Given the description of an element on the screen output the (x, y) to click on. 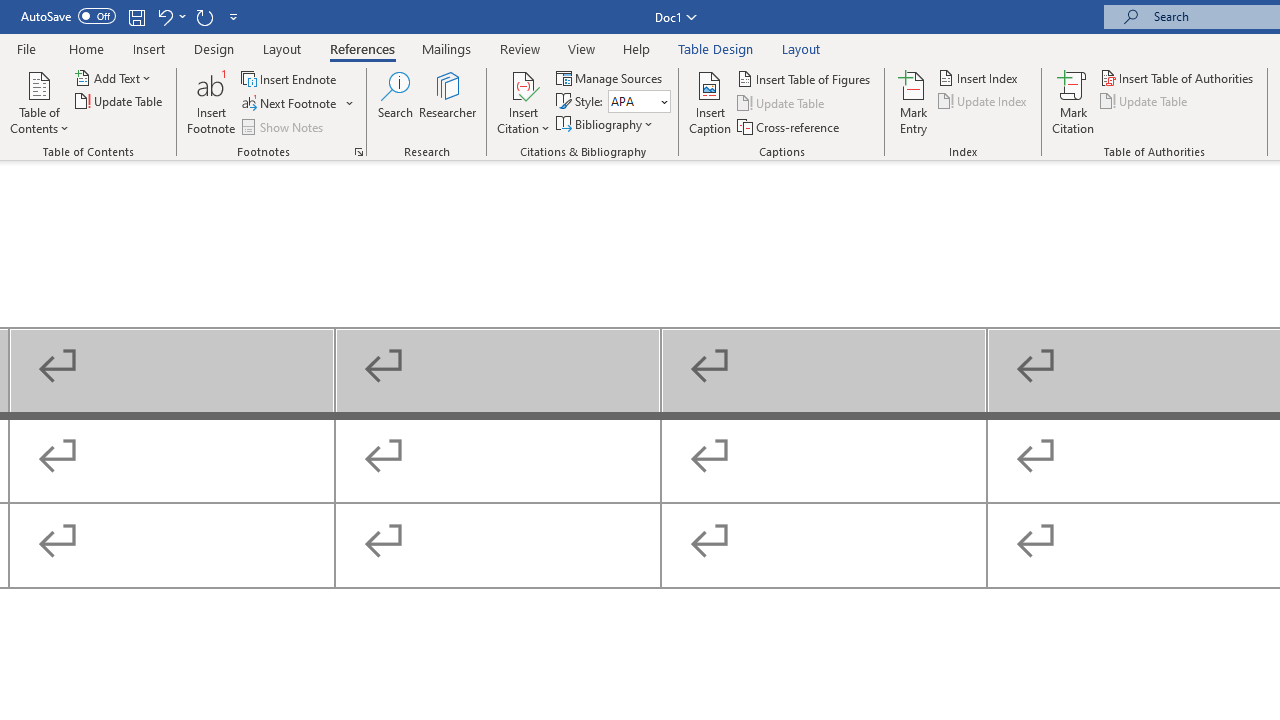
Bibliography (606, 124)
Mark Citation... (1072, 102)
Style (639, 101)
Update Table (1145, 101)
Insert Table of Figures... (804, 78)
Next Footnote (298, 103)
Table of Contents (39, 102)
Update Table... (119, 101)
Cross-reference... (789, 126)
